Given the description of an element on the screen output the (x, y) to click on. 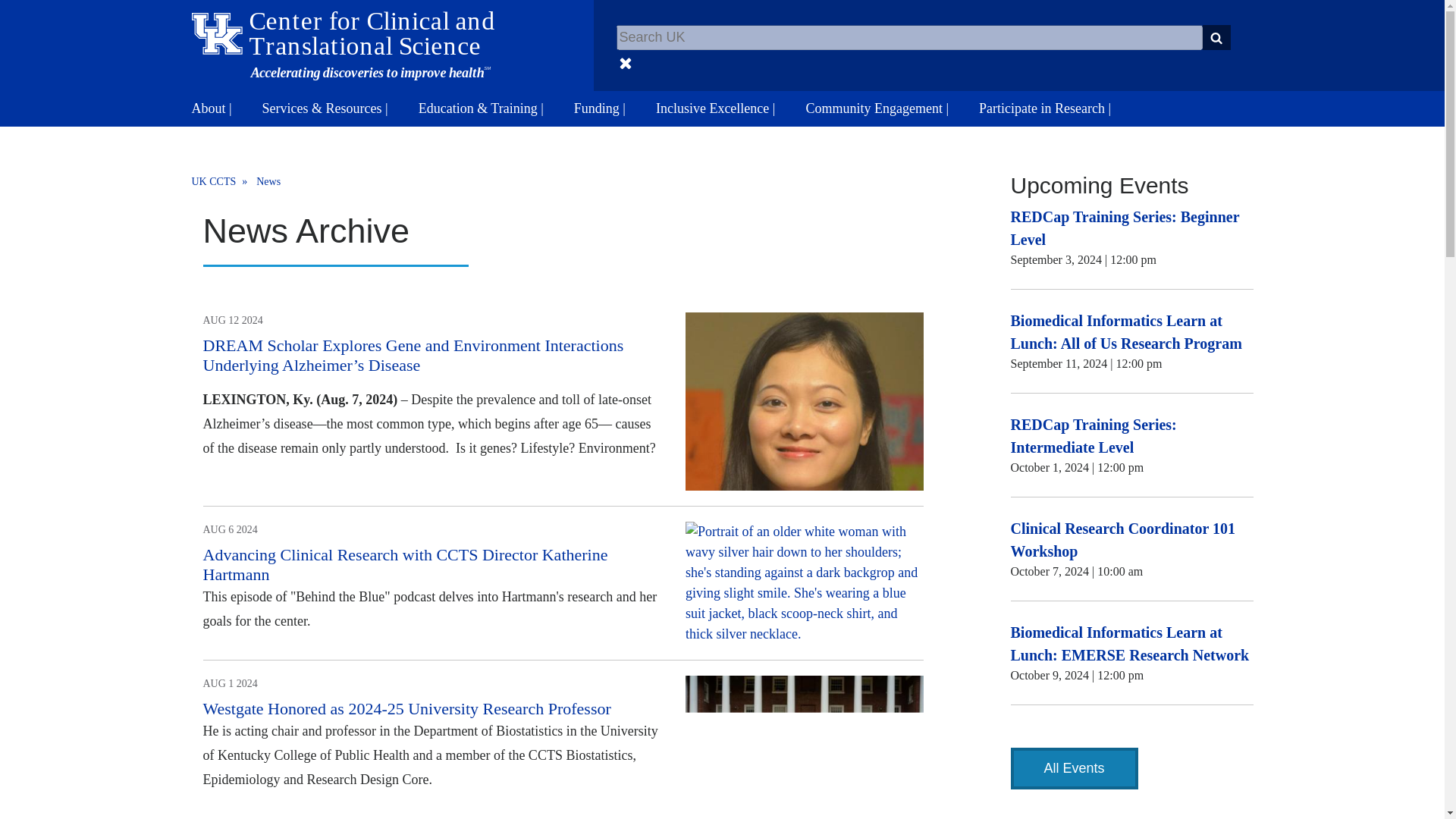
News (268, 181)
Research Navigators (937, 45)
UK CCTS (221, 181)
Become a Member (652, 45)
MyUK (1195, 45)
Search (1216, 37)
Home (342, 45)
Westgate Honored as 2024-25 University Research Professor (407, 708)
